Given the description of an element on the screen output the (x, y) to click on. 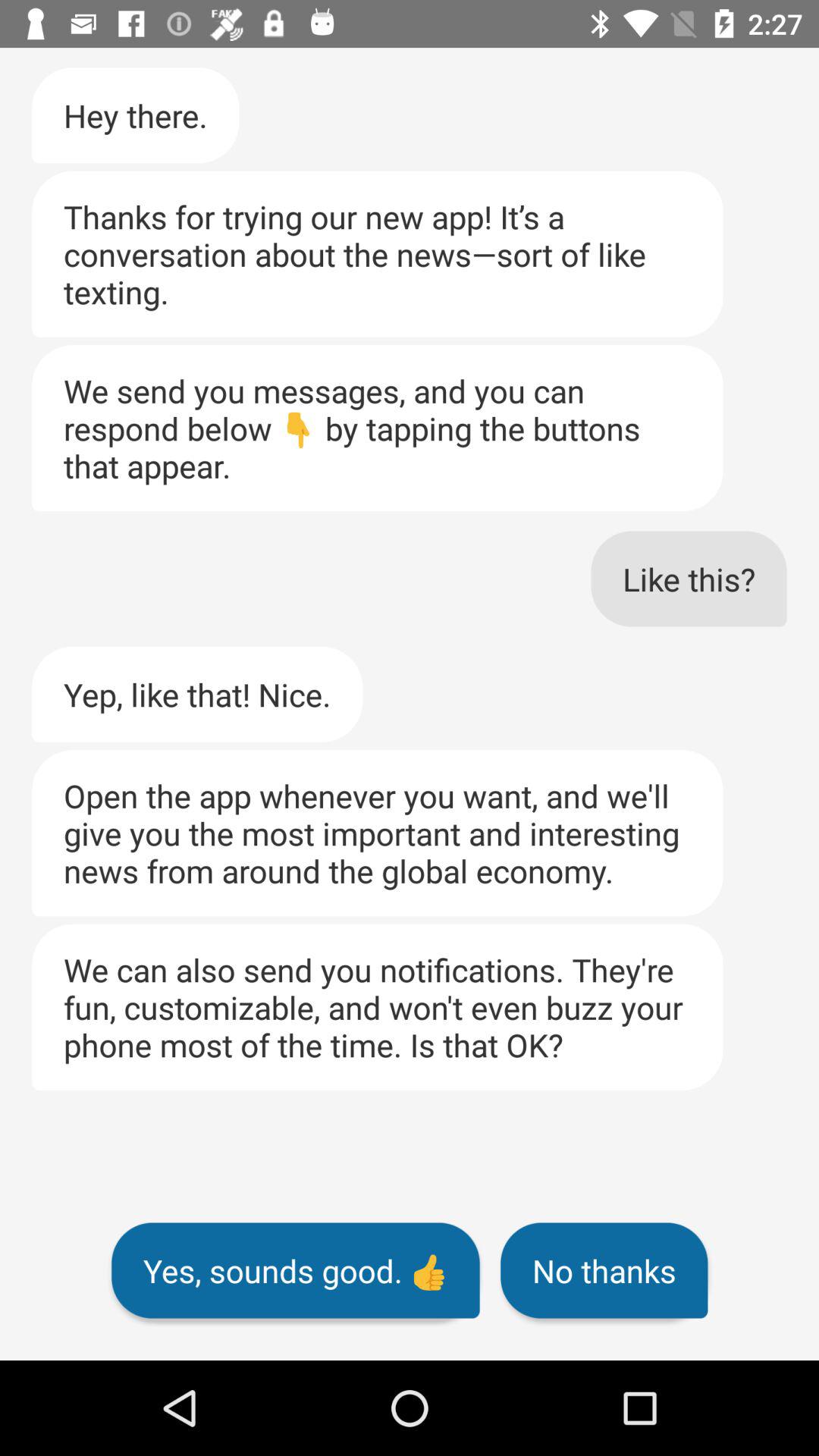
launch item to the left of the no thanks (295, 1270)
